Given the description of an element on the screen output the (x, y) to click on. 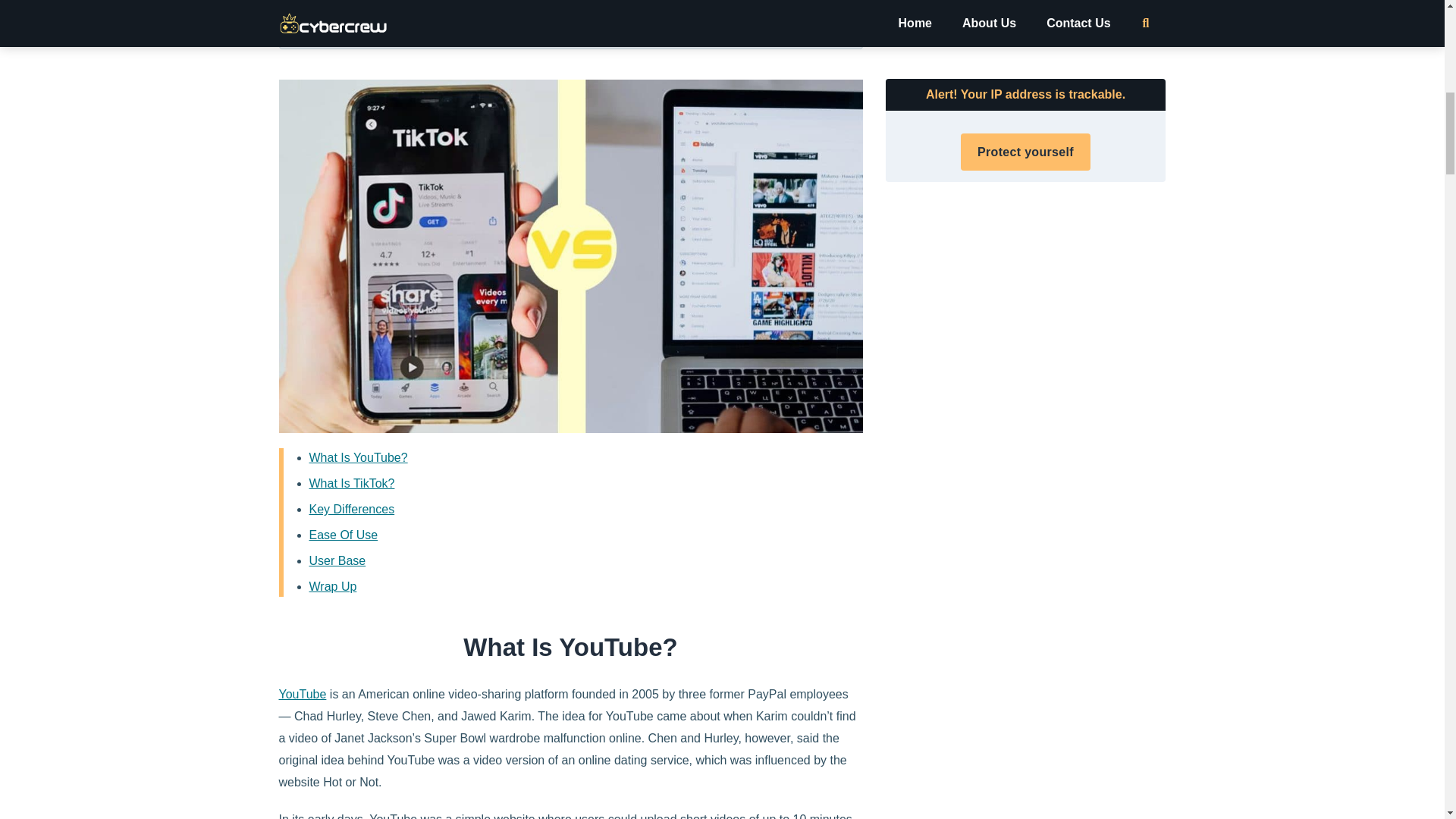
What Is YouTube? (357, 457)
Key Differences (351, 508)
Wrap Up (332, 585)
Ease Of Use (343, 534)
User Base (337, 560)
YouTube (302, 694)
What Is TikTok? (351, 482)
